Given the description of an element on the screen output the (x, y) to click on. 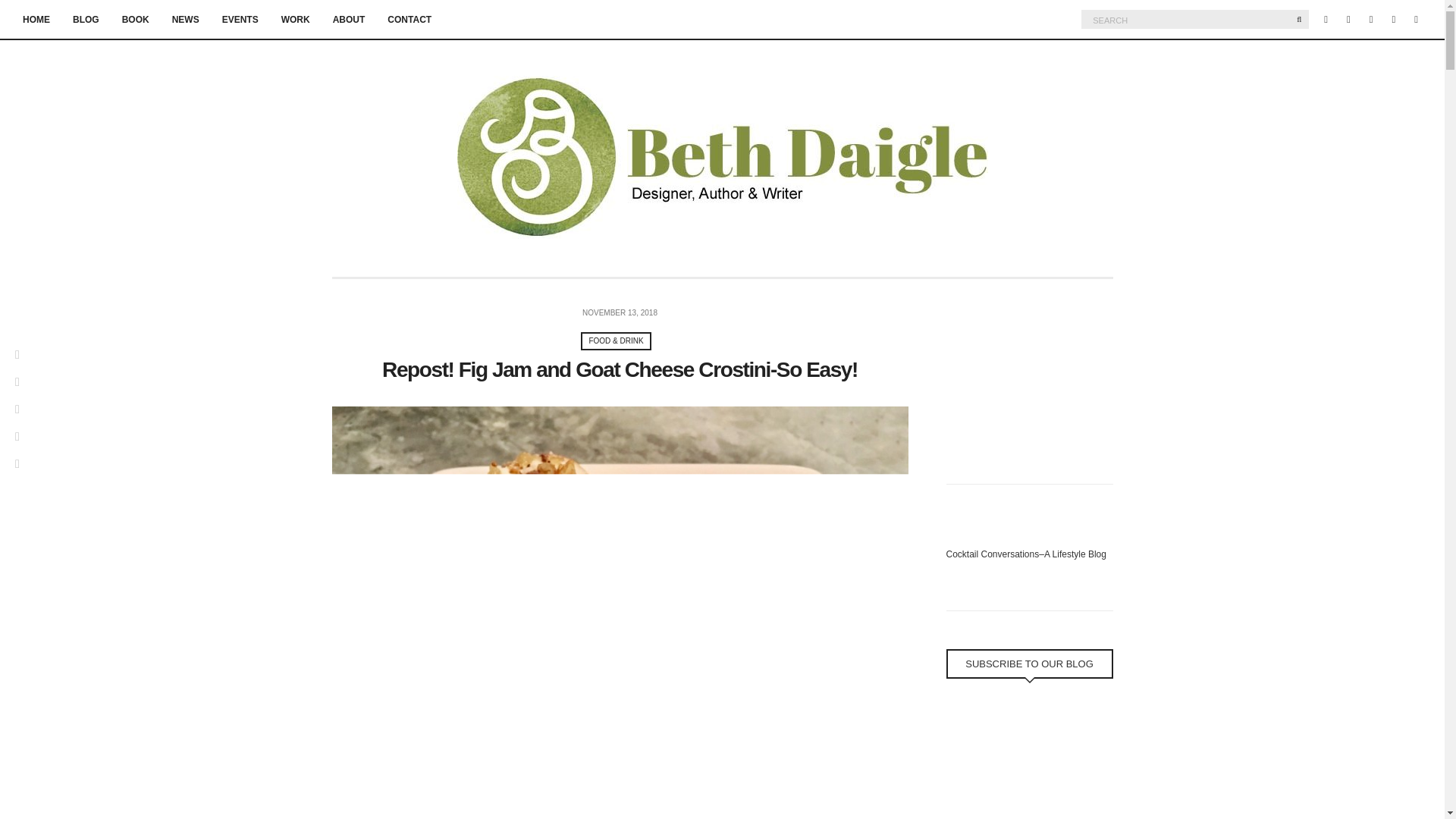
BLOG (85, 20)
WORK (295, 20)
BOOK (135, 20)
EVENTS (240, 20)
CONTACT (408, 20)
HOME (36, 20)
ABOUT (349, 20)
NEWS (185, 20)
Repost! Fig Jam and Goat Cheese Crostini-So Easy! (619, 369)
Search (1298, 18)
